Given the description of an element on the screen output the (x, y) to click on. 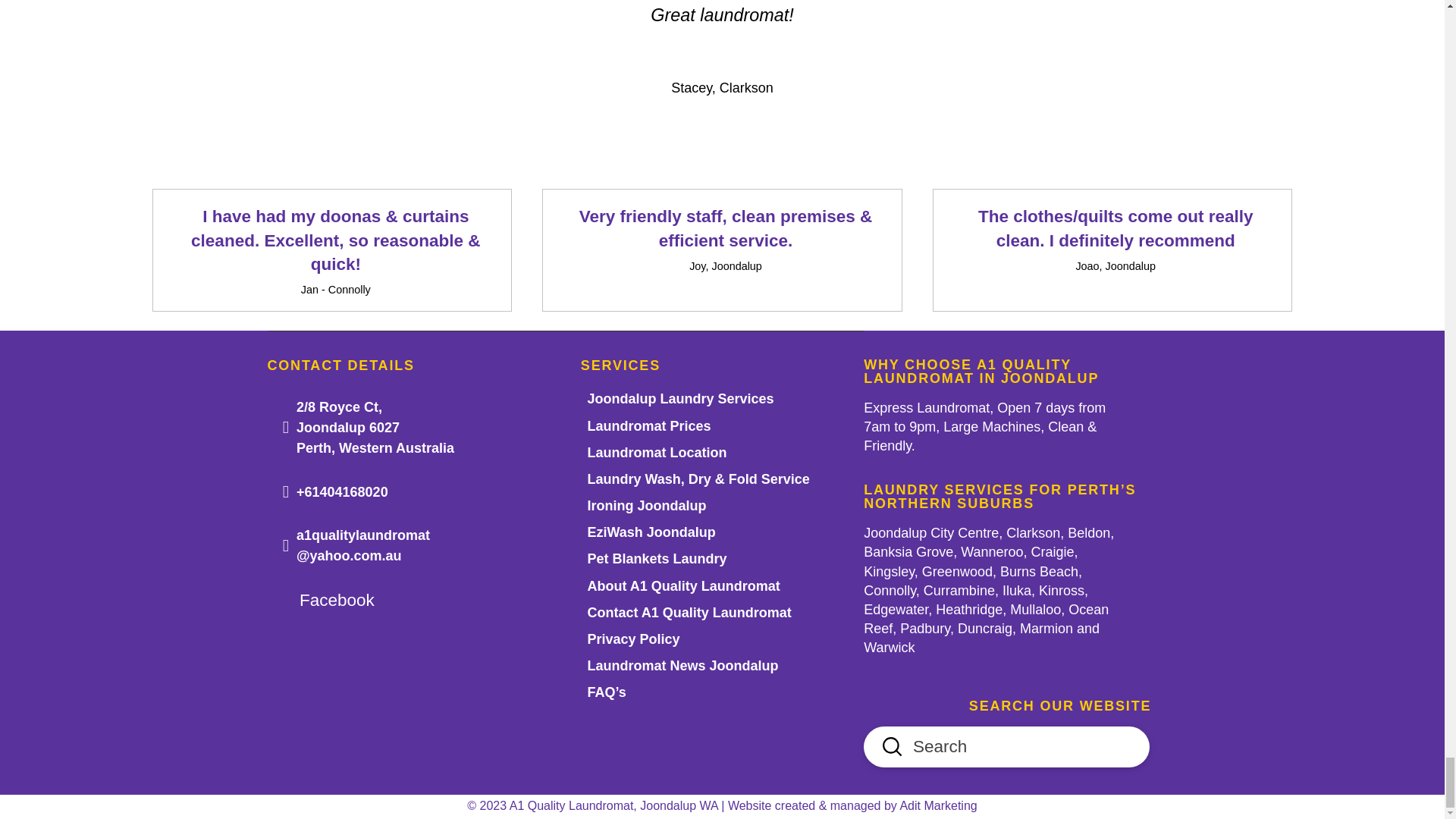
Joondalup Laundry Services (680, 398)
Facebook (327, 601)
Laundromat Prices (648, 425)
